Given the description of an element on the screen output the (x, y) to click on. 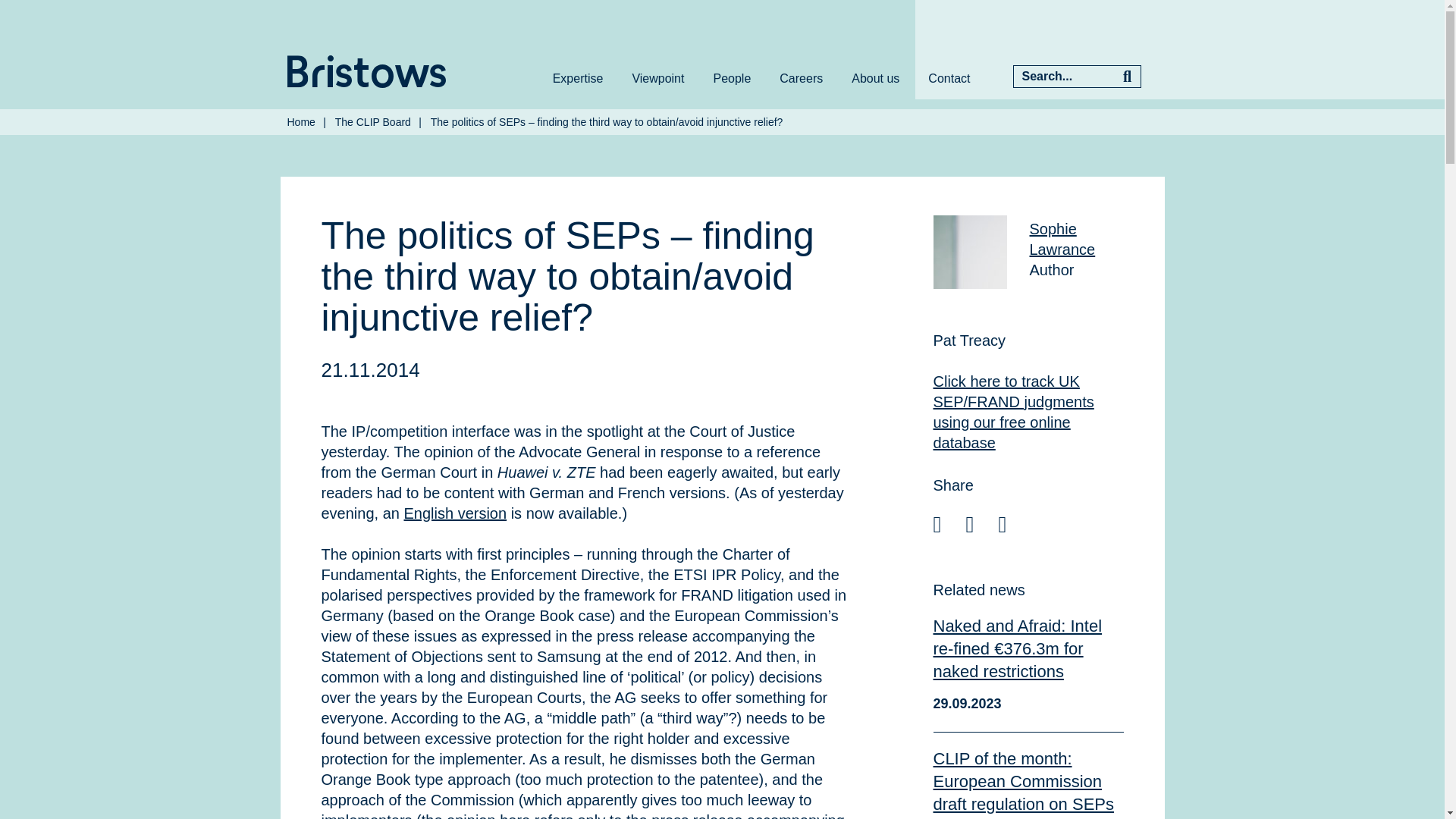
Search (1127, 76)
Expertise (578, 78)
Bristows (365, 71)
Search... (1063, 76)
Search (1127, 76)
Viewpoint (657, 78)
